Given the description of an element on the screen output the (x, y) to click on. 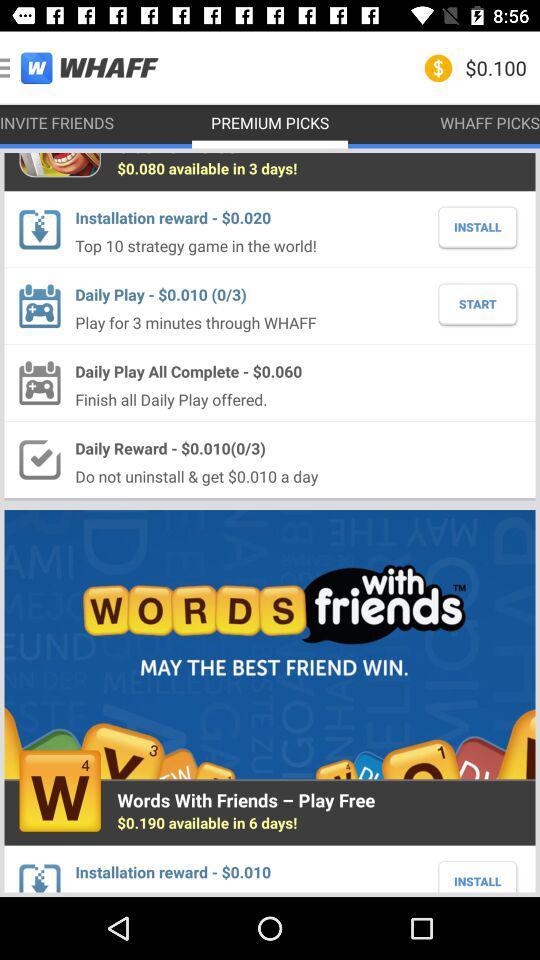
press the icon to the left of premium picks (80, 66)
